Given the description of an element on the screen output the (x, y) to click on. 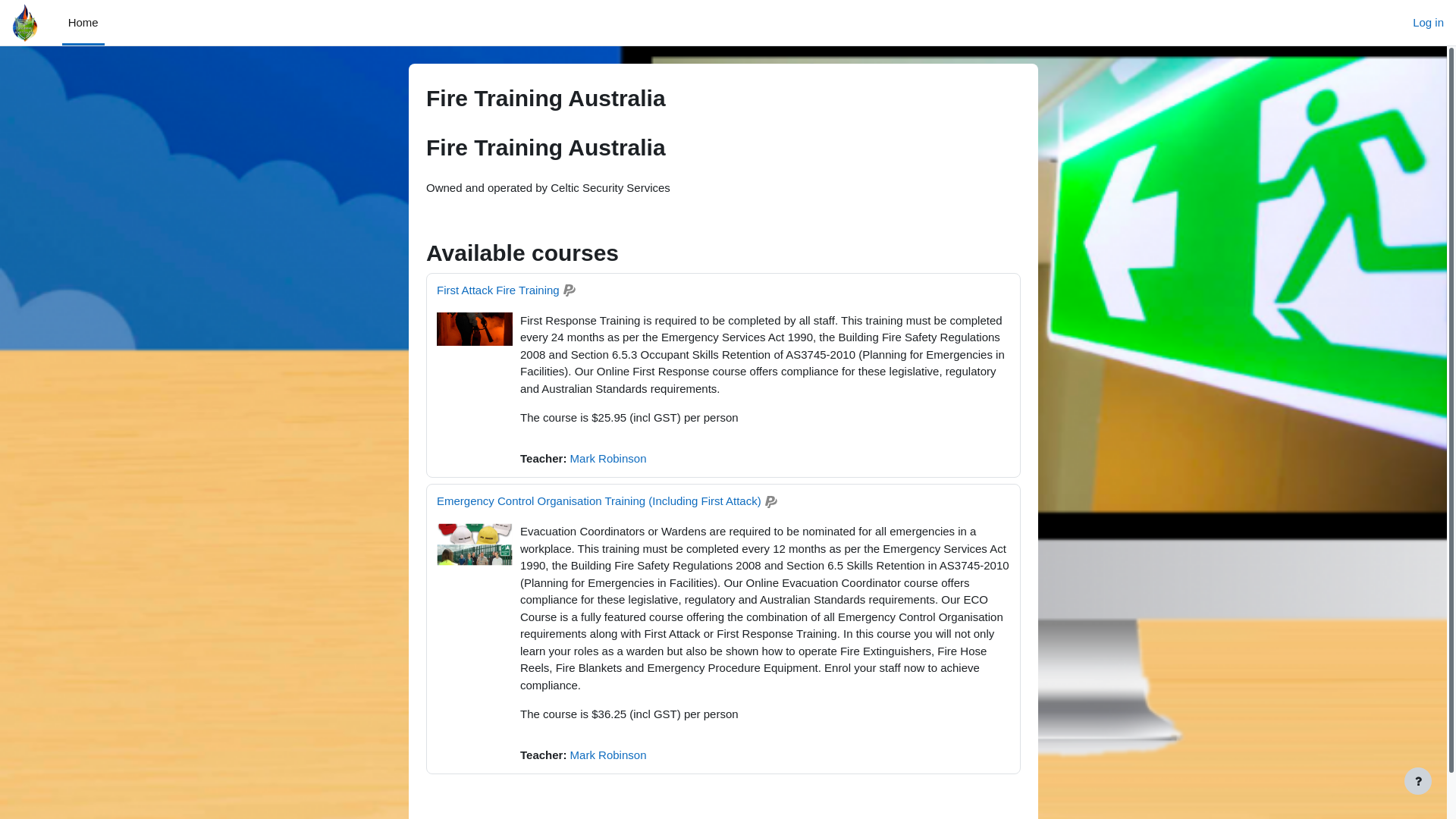
PayPal Element type: hover (569, 290)
First Attack Fire Training Element type: text (497, 289)
Mark Robinson Element type: text (608, 457)
Home Element type: text (83, 22)
PayPal Element type: hover (771, 501)
Log in Element type: text (1427, 22)
Mark Robinson Element type: text (608, 753)
